Given the description of an element on the screen output the (x, y) to click on. 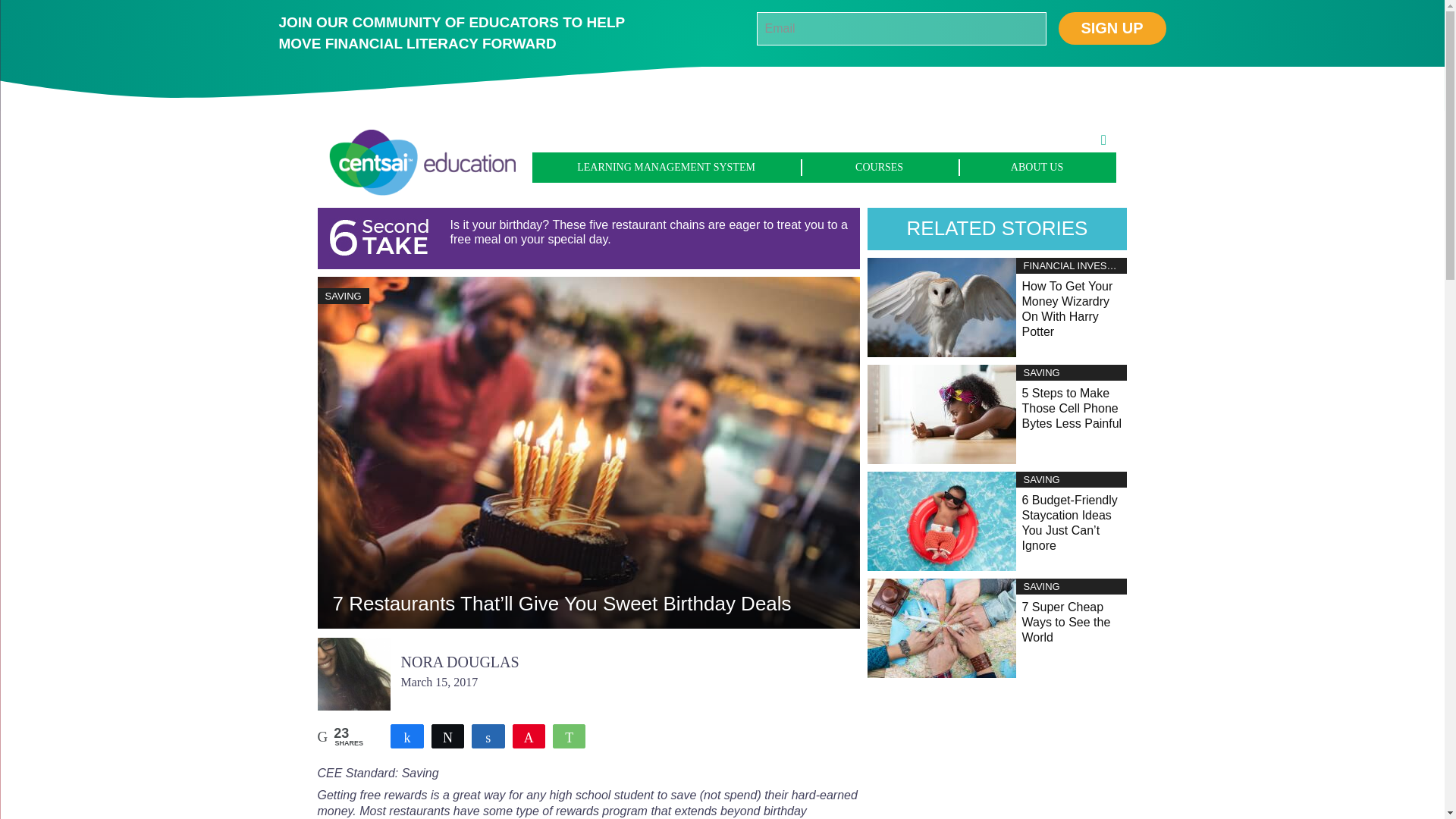
5 Steps to Make Those Cell Phone Bytes Less Painful (1072, 407)
LEARNING MANAGEMENT SYSTEM (666, 167)
COURSES (879, 167)
SIGN UP (1112, 28)
Centsai Education (422, 158)
7 Super Cheap Ways to See the World (941, 626)
12 (528, 735)
SIGN UP (1112, 28)
How To Get Your Money Wizardry On With Harry Potter (941, 306)
How To Get Your Money Wizardry On With Harry Potter (1067, 309)
5 Steps to Make Those Cell Phone Bytes Less Painful (941, 413)
11 (406, 735)
ABOUT US (1037, 167)
NORA DOUGLAS (459, 661)
